Given the description of an element on the screen output the (x, y) to click on. 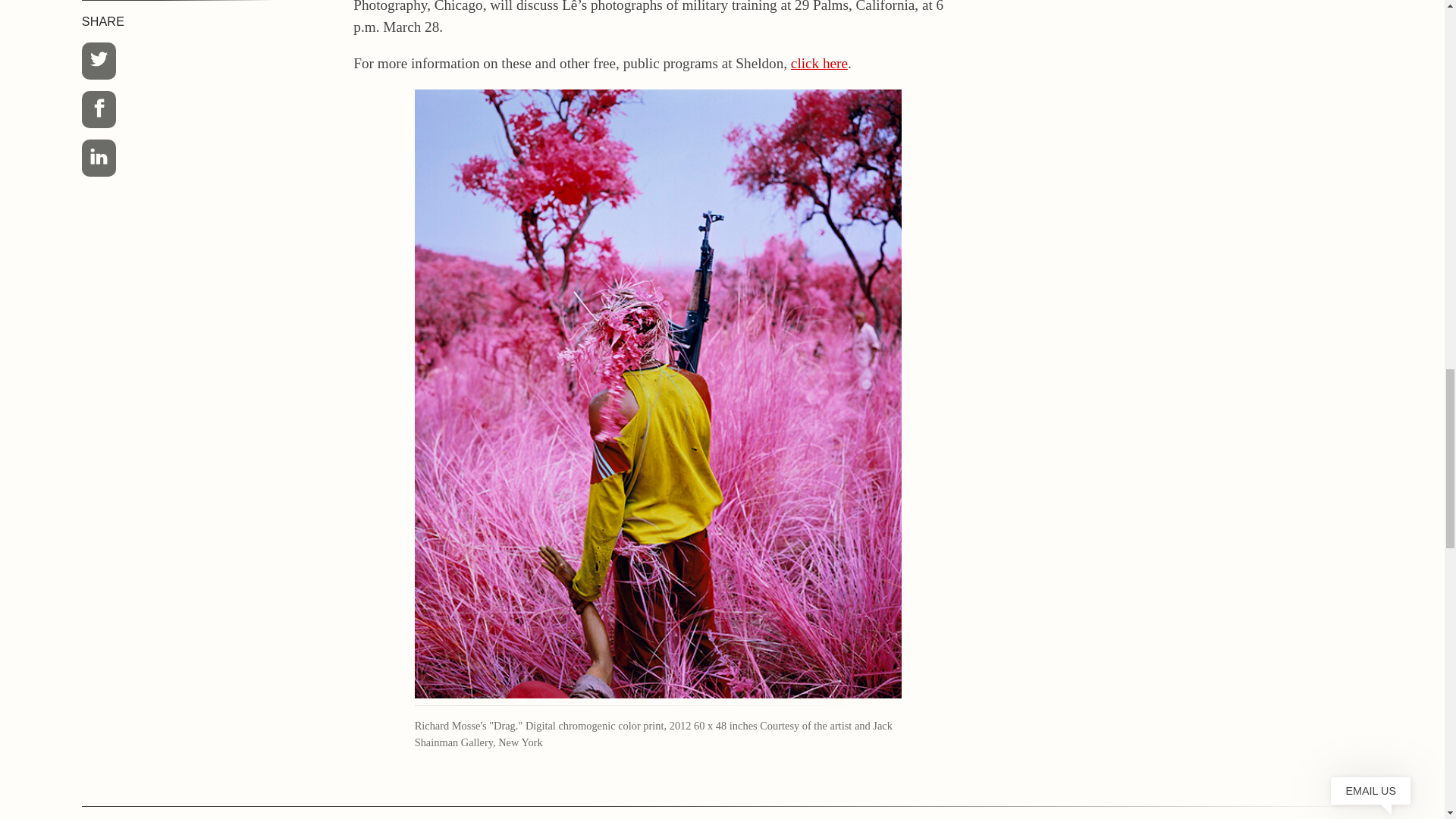
click here (818, 63)
